Given the description of an element on the screen output the (x, y) to click on. 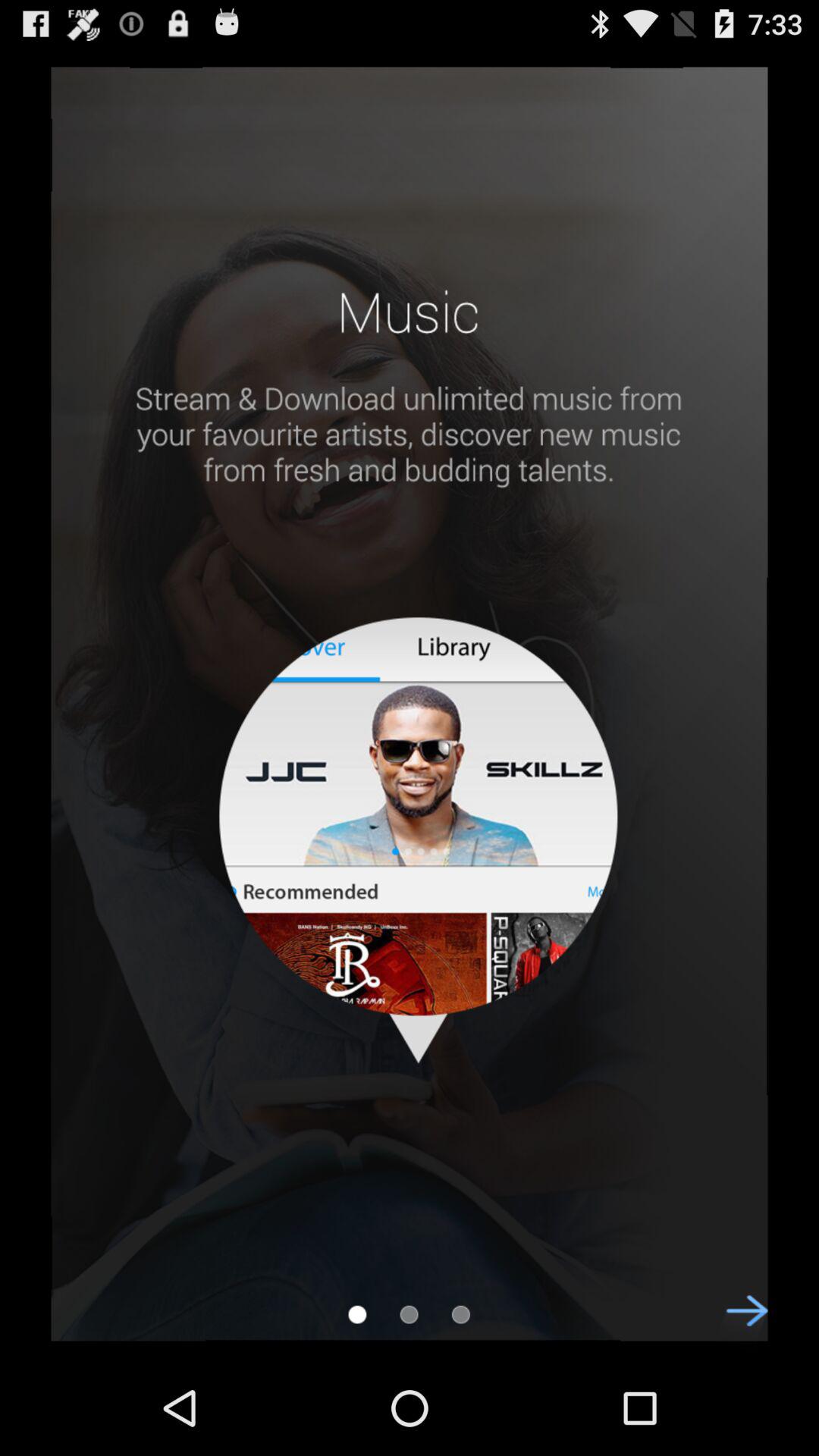
move to next (738, 1324)
